Given the description of an element on the screen output the (x, y) to click on. 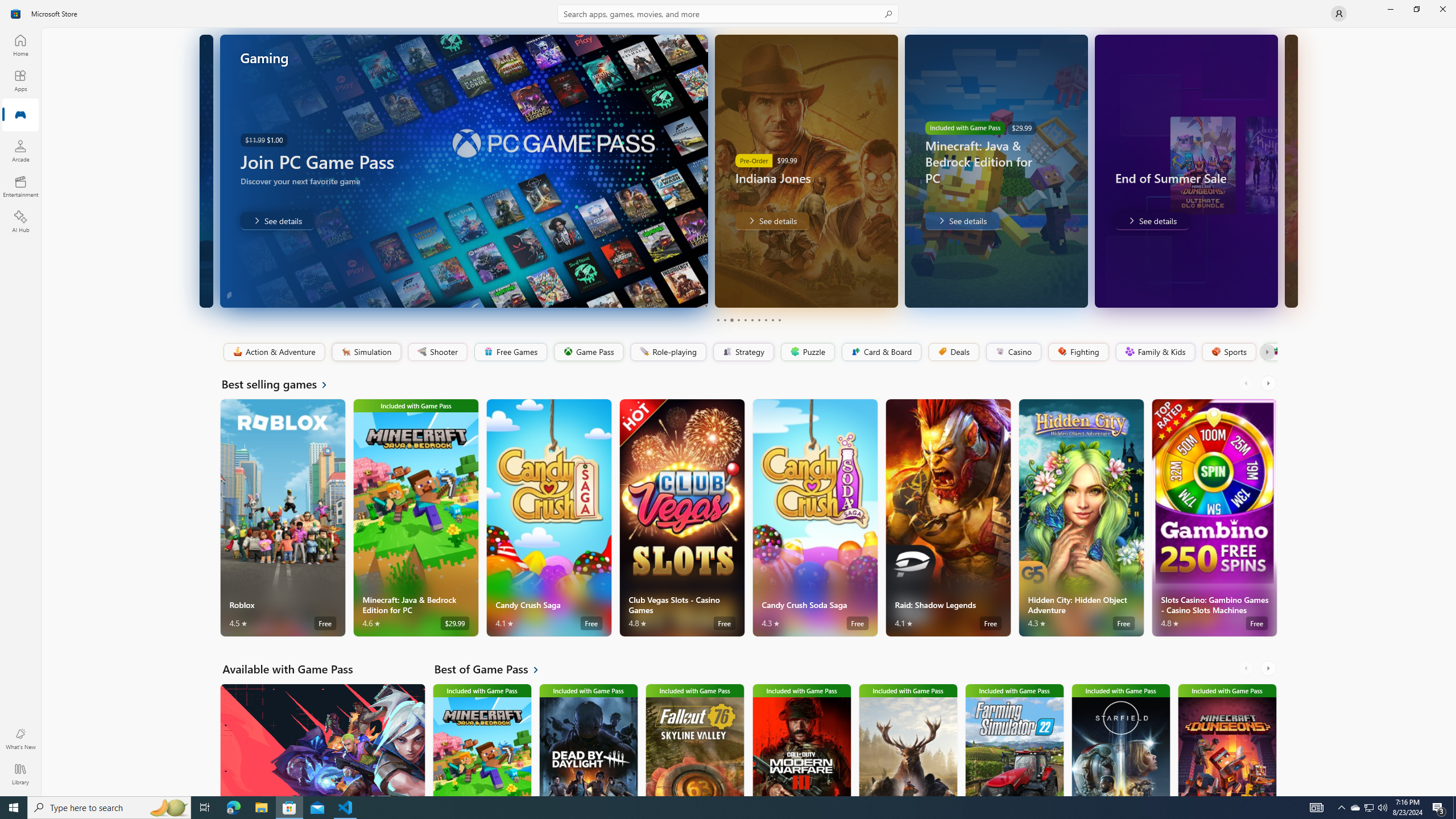
Available with Game Pass. VALORANT (322, 739)
Page 2 (724, 319)
Free Games (509, 352)
Shooter (436, 352)
AutomationID: RightScrollButton (1269, 668)
Simulation (365, 352)
